Given the description of an element on the screen output the (x, y) to click on. 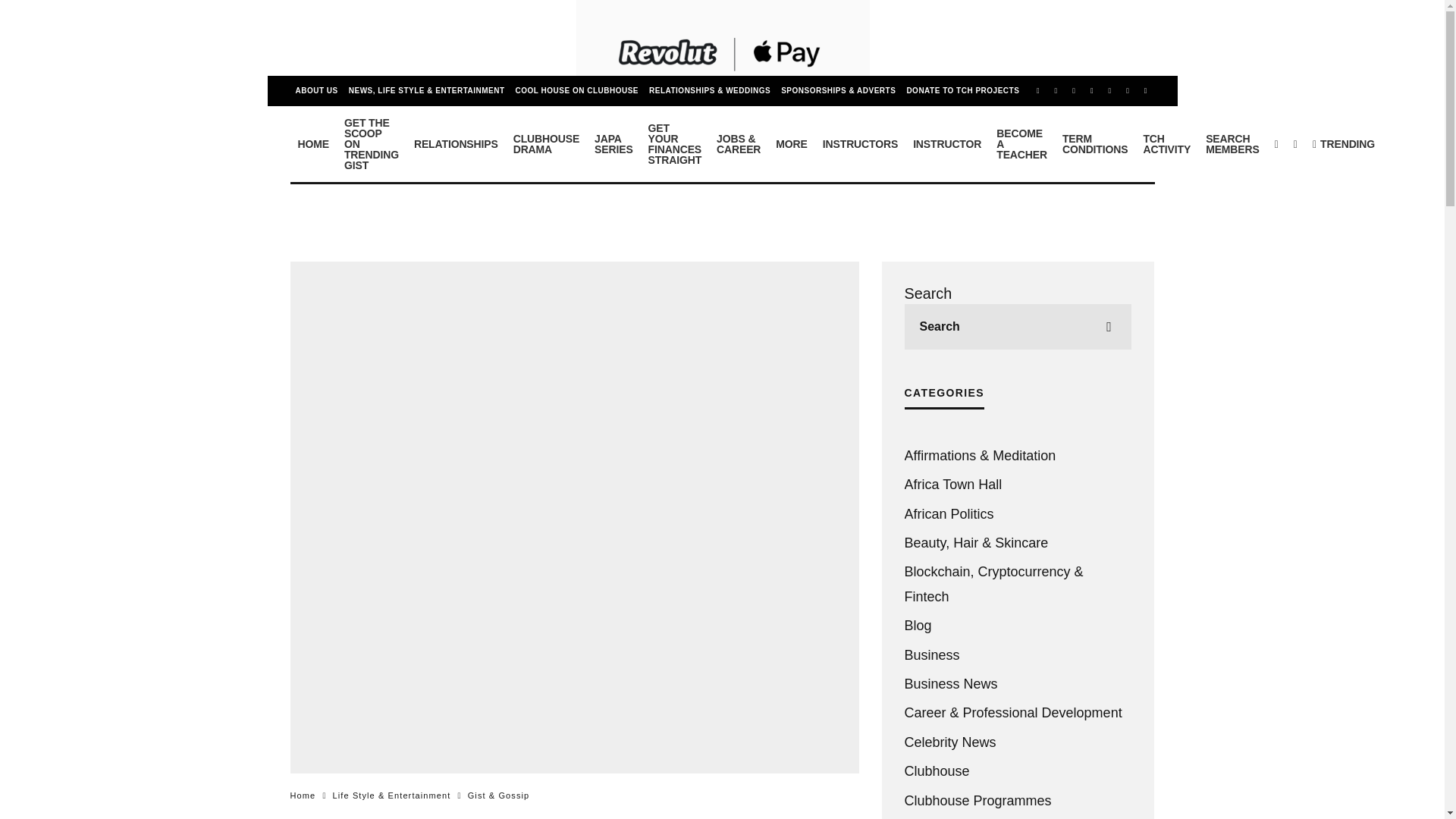
ABOUT US (315, 91)
Buy now! (577, 91)
